Given the description of an element on the screen output the (x, y) to click on. 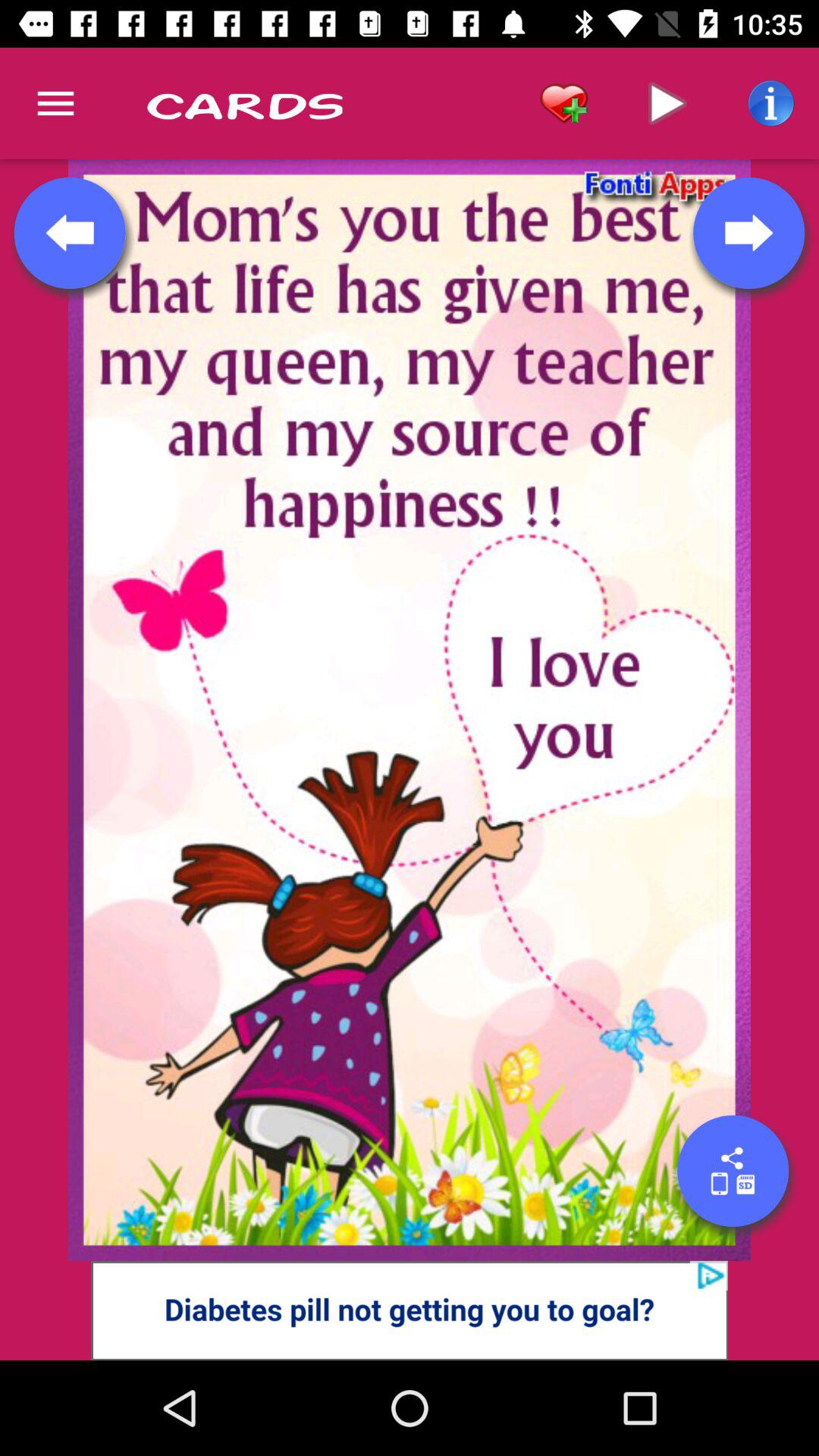
open advertisement (409, 1310)
